Given the description of an element on the screen output the (x, y) to click on. 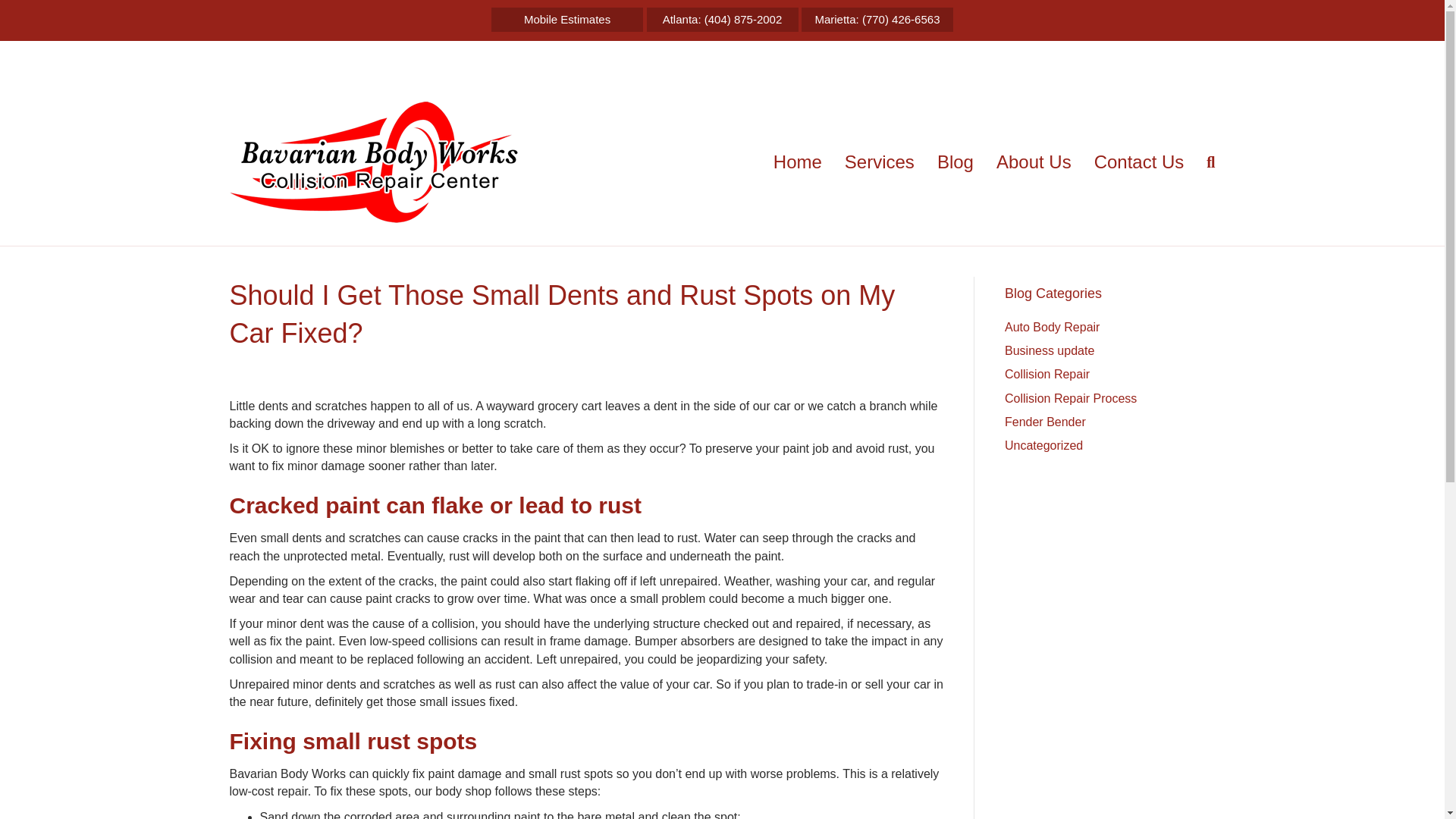
Home (796, 162)
Blog (955, 162)
Contact Us (1139, 162)
About Us (1034, 162)
Services (879, 162)
Mobile Estimates (567, 19)
